Given the description of an element on the screen output the (x, y) to click on. 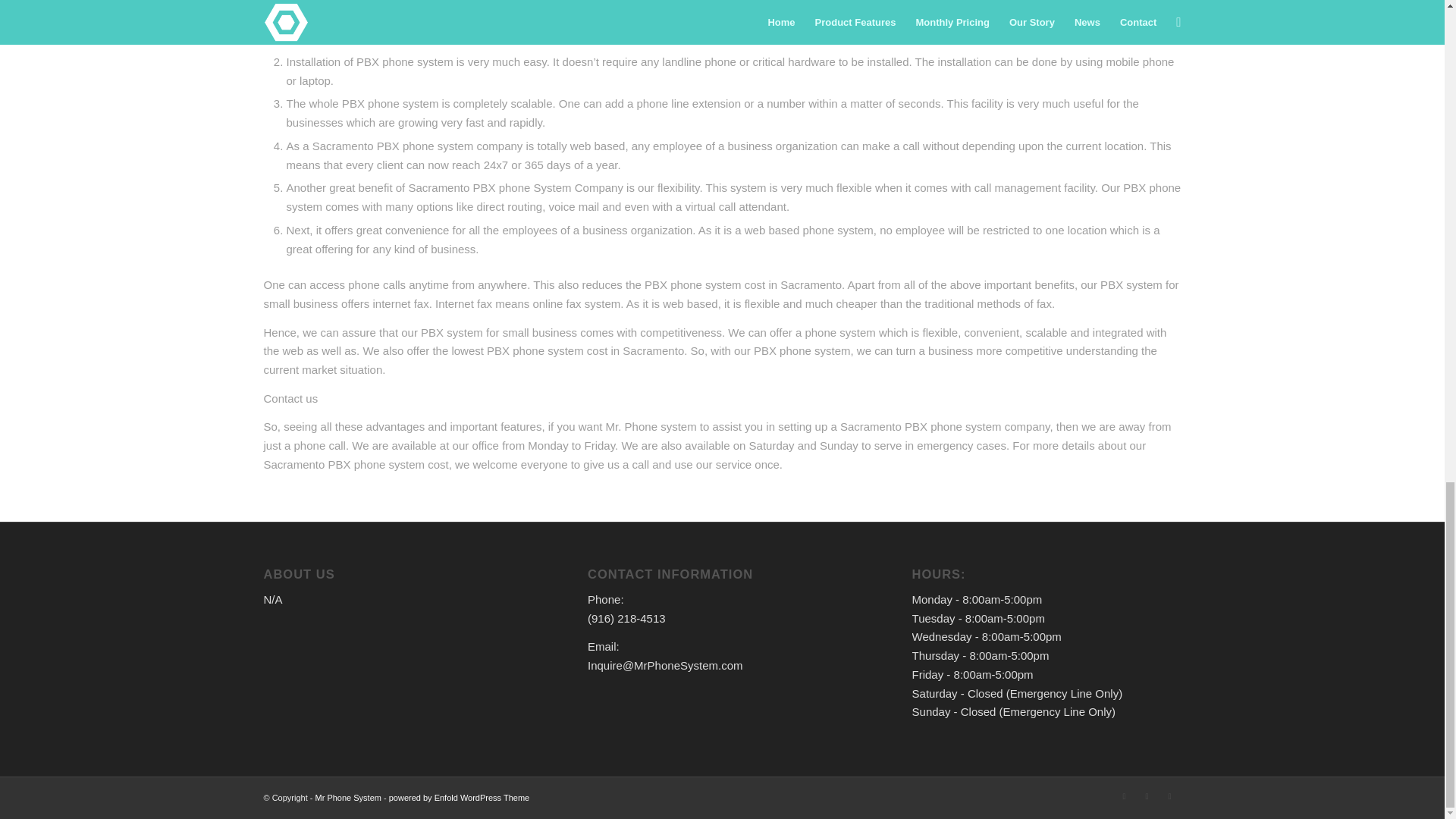
powered by Enfold WordPress Theme (458, 797)
Twitter (1124, 795)
Mr Phone System (348, 797)
Gplus (1169, 795)
Facebook (1146, 795)
